Given the description of an element on the screen output the (x, y) to click on. 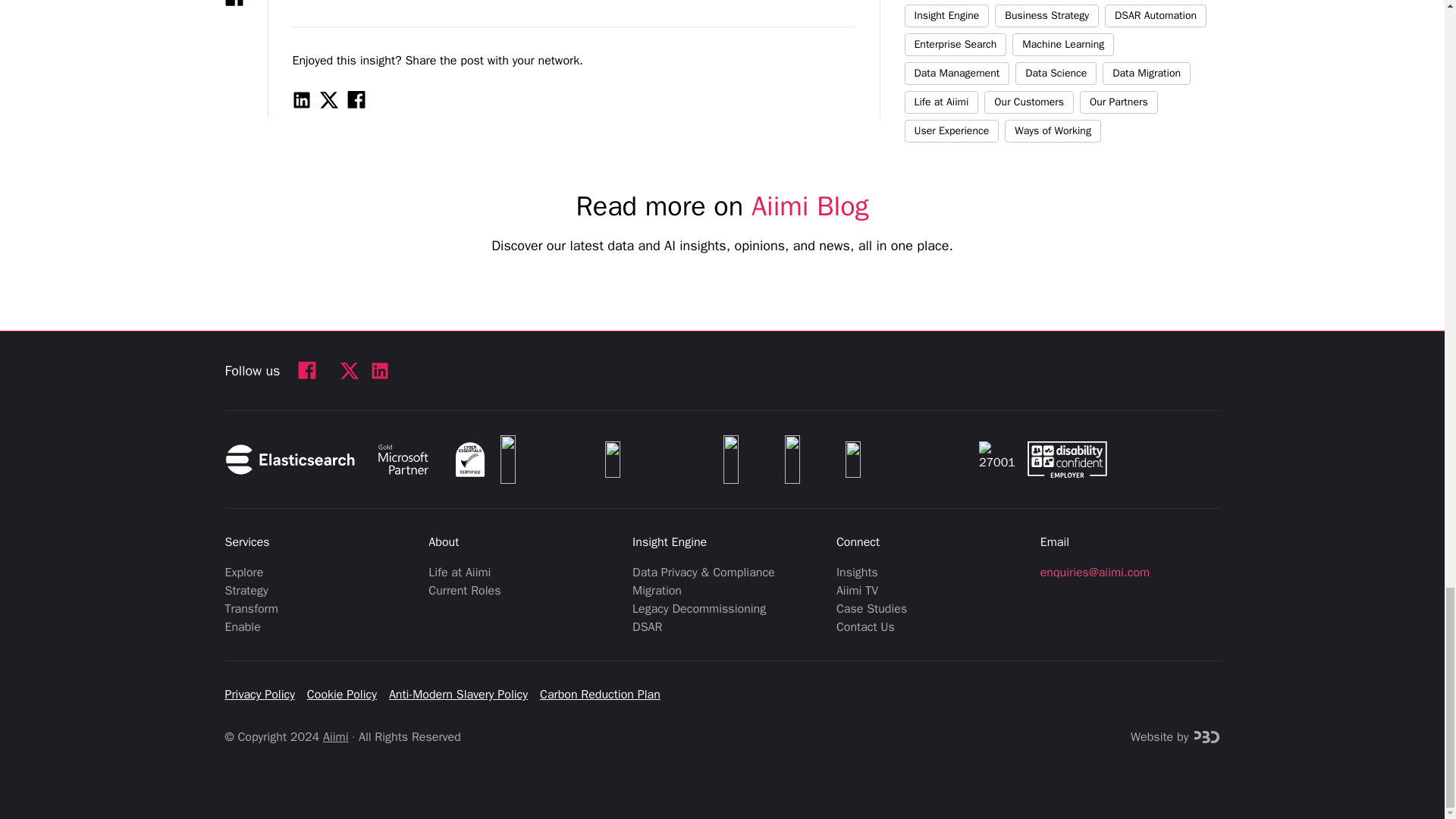
Web Design (1206, 736)
